Given the description of an element on the screen output the (x, y) to click on. 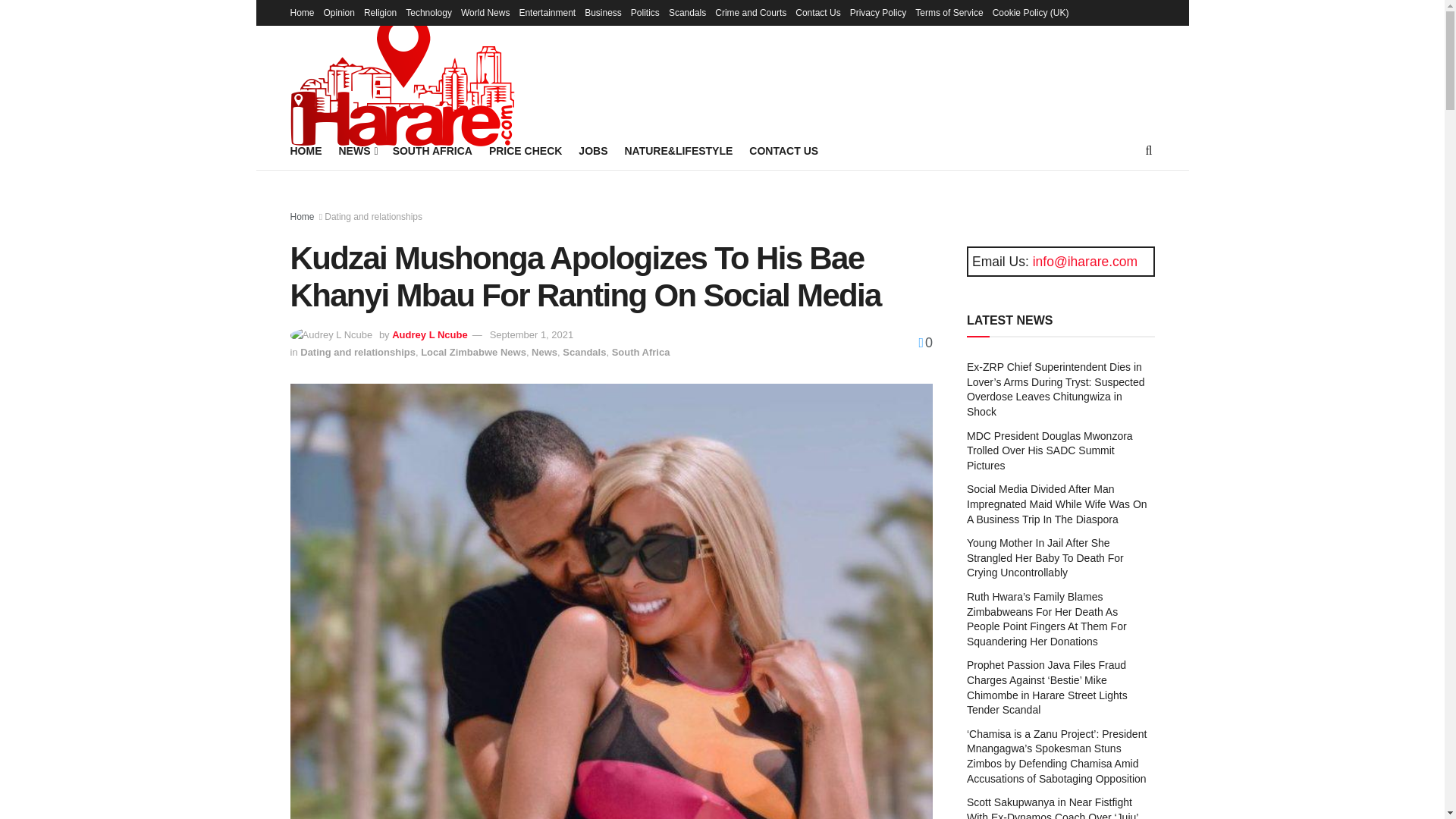
World News (485, 12)
NEWS (356, 150)
PRICE CHECK (525, 150)
Religion (380, 12)
CONTACT US (783, 150)
Scandals (687, 12)
Privacy Policy (878, 12)
Technology (428, 12)
HOME (305, 150)
SOUTH AFRICA (432, 150)
